Given the description of an element on the screen output the (x, y) to click on. 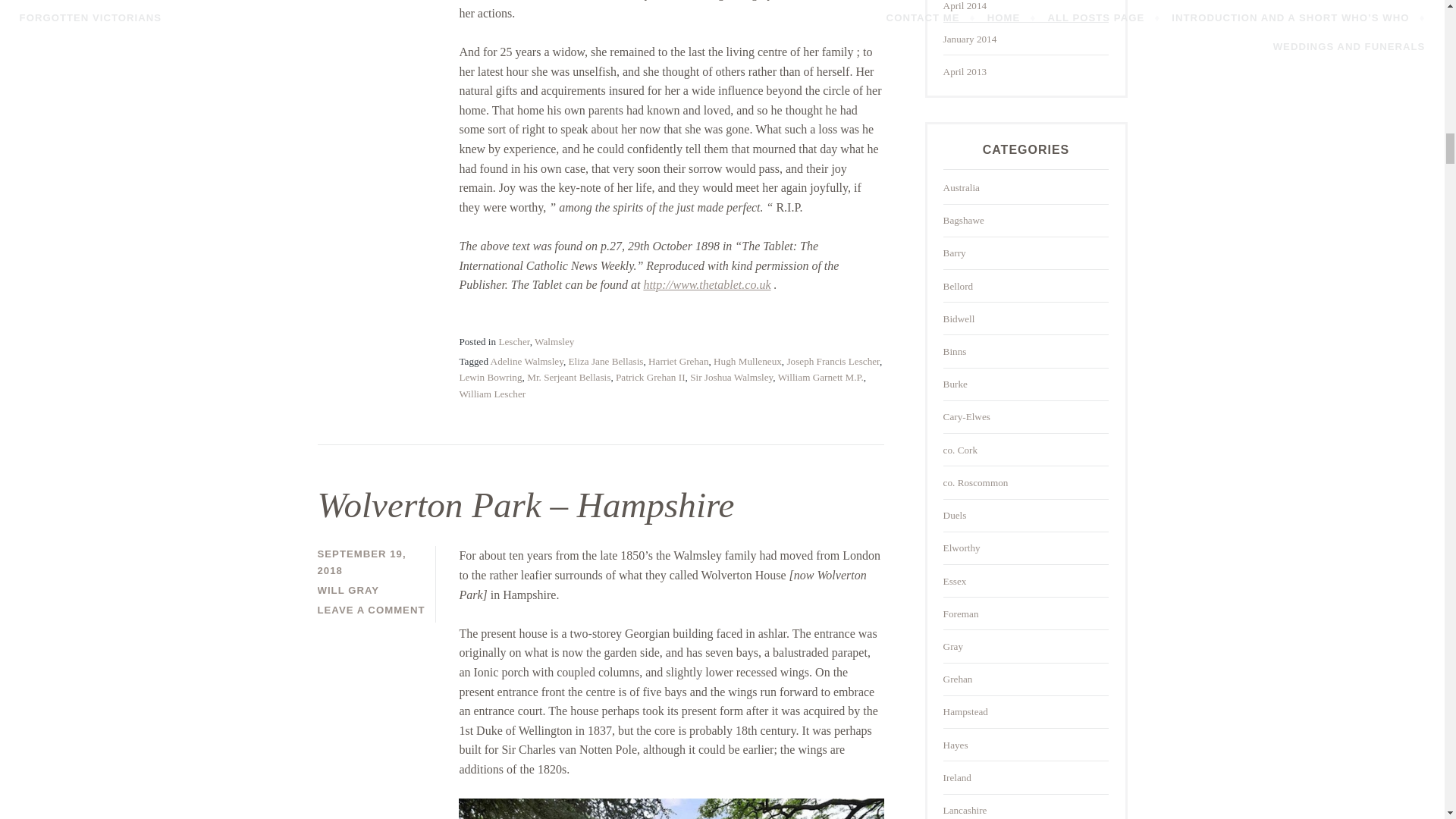
Eliza Jane Bellasis (606, 360)
Patrick Grehan II (650, 377)
Lescher (513, 341)
Lewin Bowring (489, 377)
Harriet Grehan (677, 360)
Mr. Serjeant Bellasis (568, 377)
Walmsley (553, 341)
SEPTEMBER 19, 2018 (361, 561)
William Garnett M.P. (820, 377)
Joseph Francis Lescher (832, 360)
LEAVE A COMMENT (371, 609)
Sir Joshua Walmsley (731, 377)
William Lescher (491, 393)
Hugh Mulleneux (747, 360)
Adeline Walmsley (526, 360)
